Given the description of an element on the screen output the (x, y) to click on. 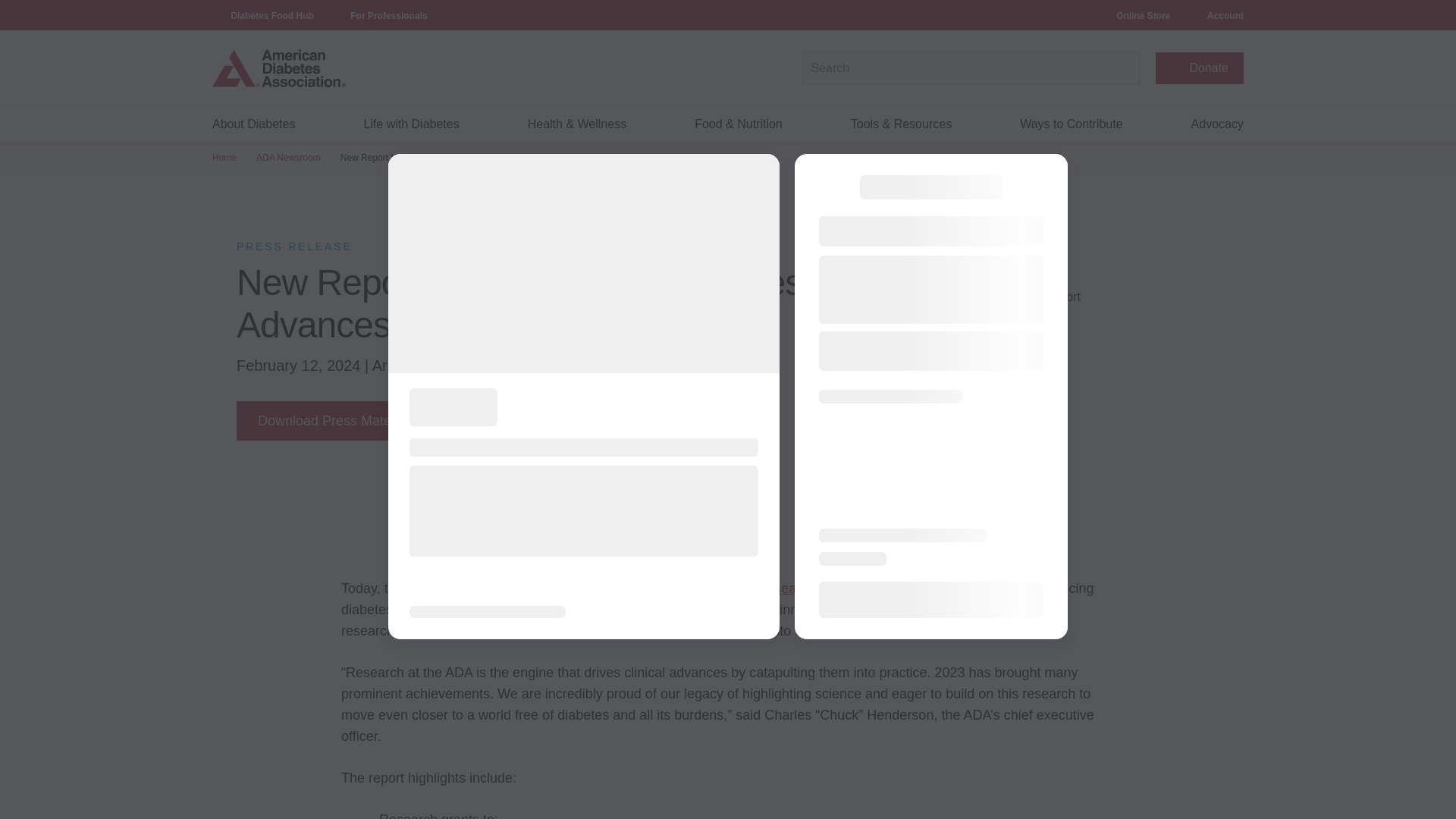
Donate (1199, 68)
ADA Logo (333, 67)
For Professionals (388, 15)
Search (1123, 68)
Search (1123, 68)
About Diabetes (253, 123)
Account (1225, 15)
Online Store (1143, 15)
Life with Diabetes (410, 123)
Diabetes Food Hub (271, 15)
